Given the description of an element on the screen output the (x, y) to click on. 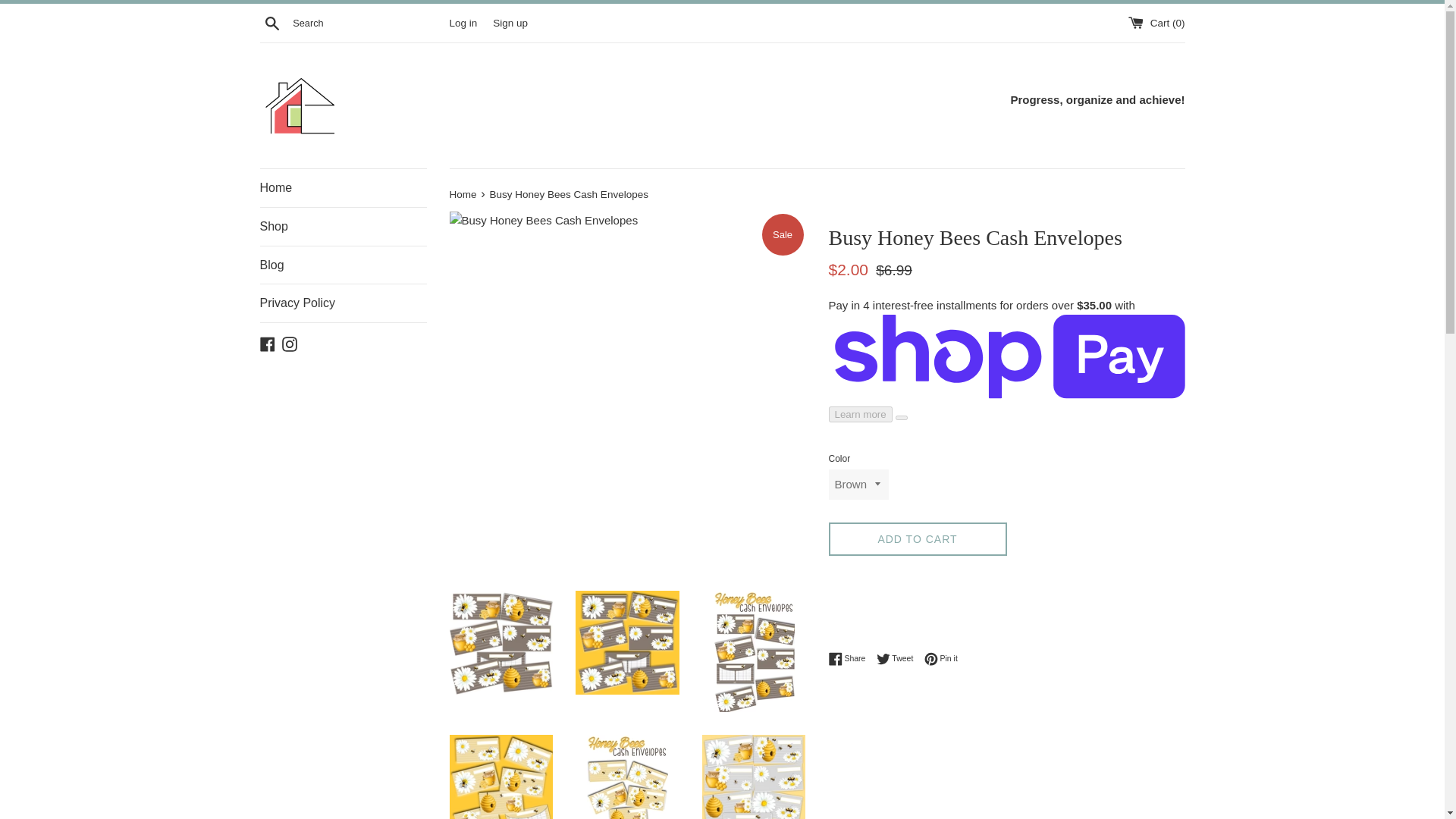
Home (463, 194)
Cash Envelopes Template on Facebook (898, 658)
Back to the frontpage (267, 342)
Home (463, 194)
Blog (342, 187)
Shop (342, 265)
Privacy Policy (941, 658)
Tweet on Twitter (342, 226)
ADD TO CART (342, 303)
Cash Envelopes Template on Instagram (898, 658)
Search (917, 539)
Sign up (289, 342)
Facebook (271, 21)
